Given the description of an element on the screen output the (x, y) to click on. 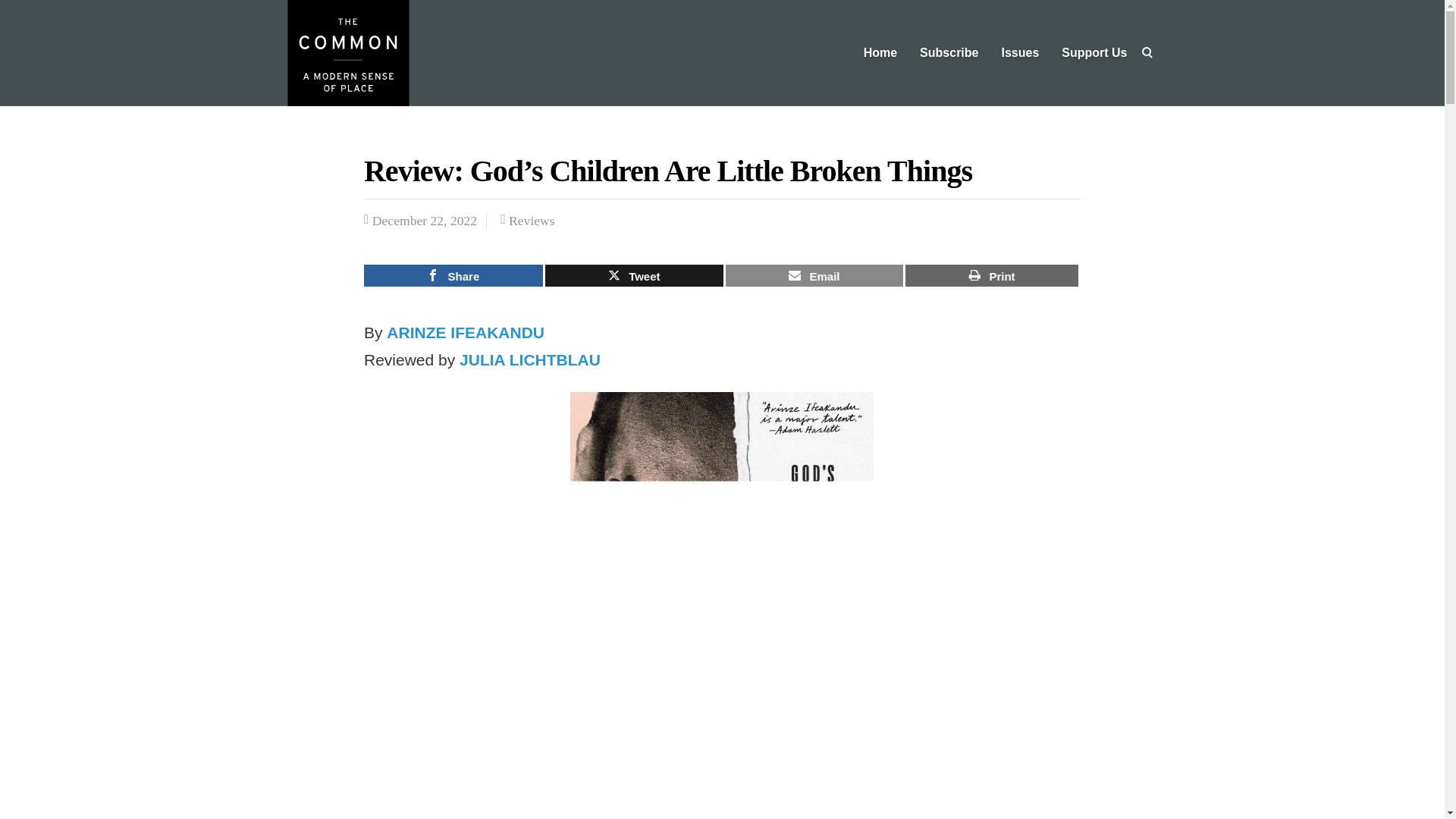
JULIA LICHTBLAU    (536, 359)
Print (991, 275)
ARINZE IFEAKANDU (465, 332)
Email (813, 275)
Tweet (633, 275)
Reviews (531, 220)
Share (453, 275)
